Given the description of an element on the screen output the (x, y) to click on. 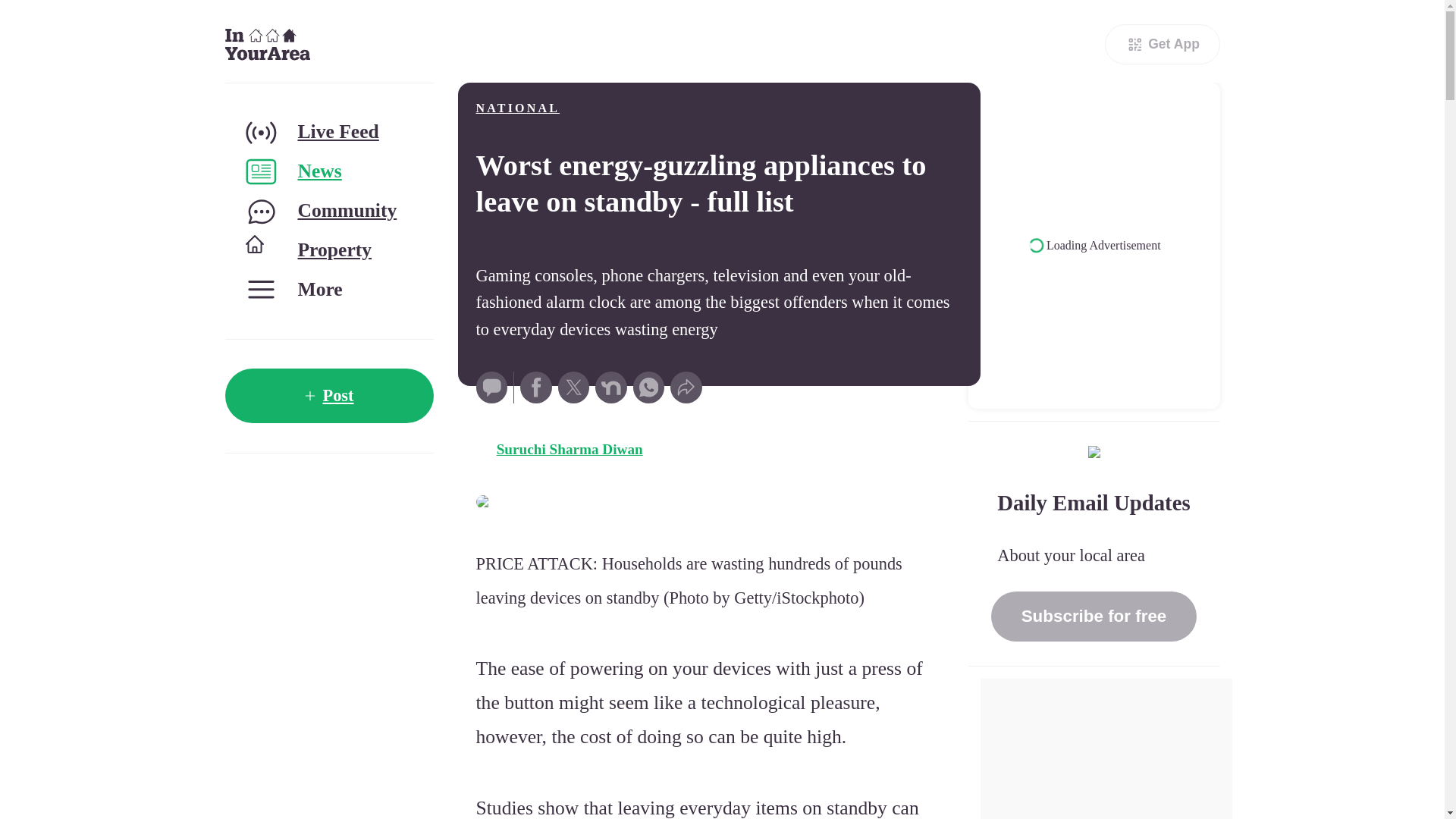
Share to Facebook (535, 387)
Share to X (573, 387)
Share to Whatsapp (649, 387)
Get App (1162, 44)
Share to Nextdoor (611, 387)
Community (328, 210)
Property (328, 250)
Social Button (492, 387)
Post (328, 395)
Live Feed (328, 132)
